Given the description of an element on the screen output the (x, y) to click on. 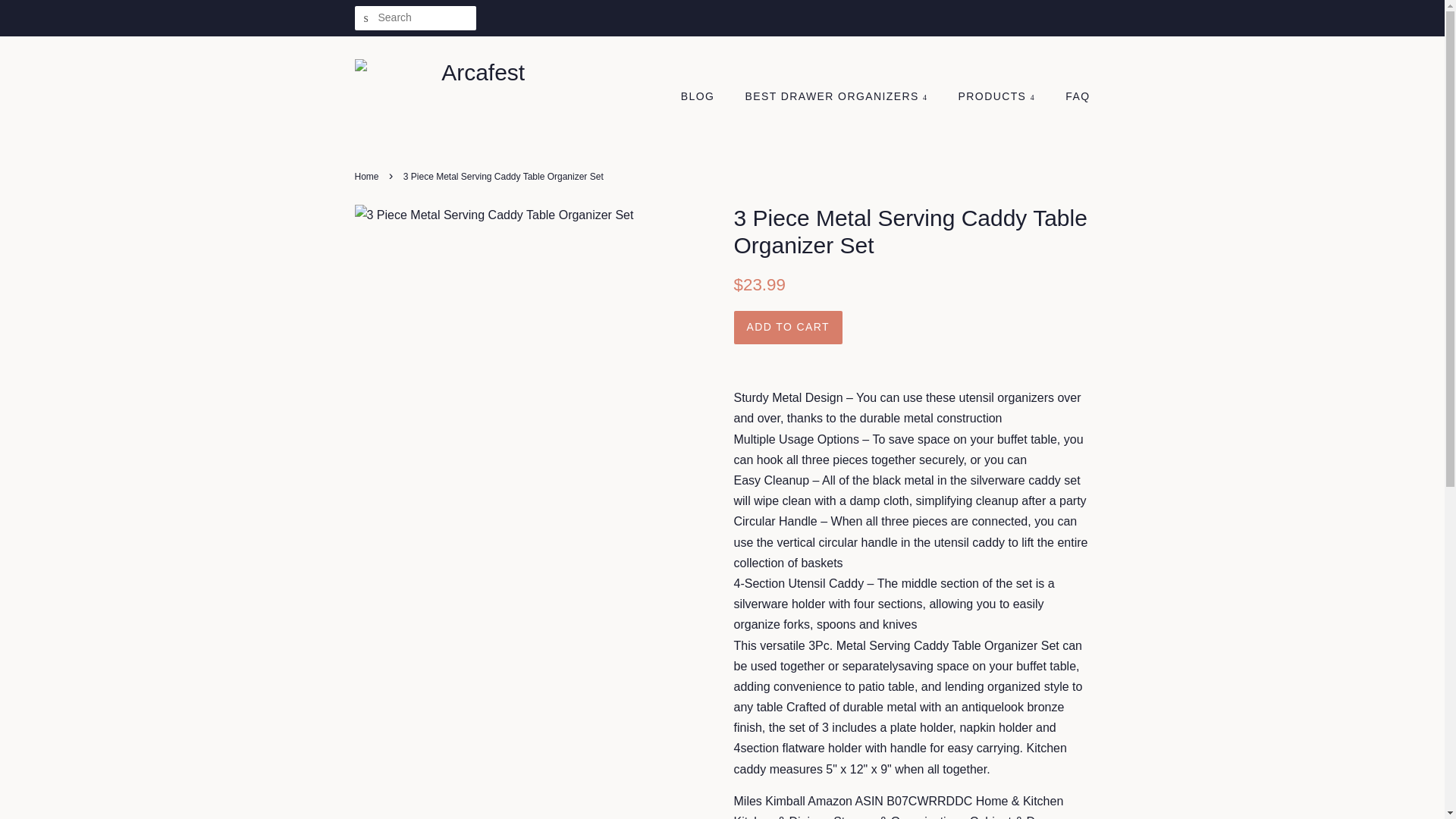
BLOG (705, 96)
SEARCH (366, 18)
PRODUCTS (998, 96)
Home (368, 176)
Back to the frontpage (368, 176)
ADD TO CART (788, 327)
FAQ (1071, 96)
BEST DRAWER ORGANIZERS (838, 96)
